Given the description of an element on the screen output the (x, y) to click on. 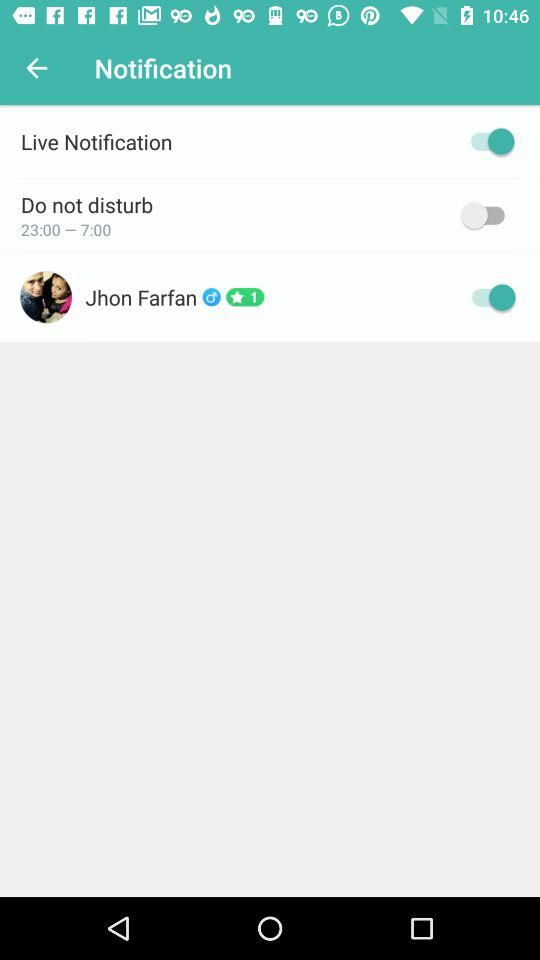
select the icon above live notification (36, 68)
